Given the description of an element on the screen output the (x, y) to click on. 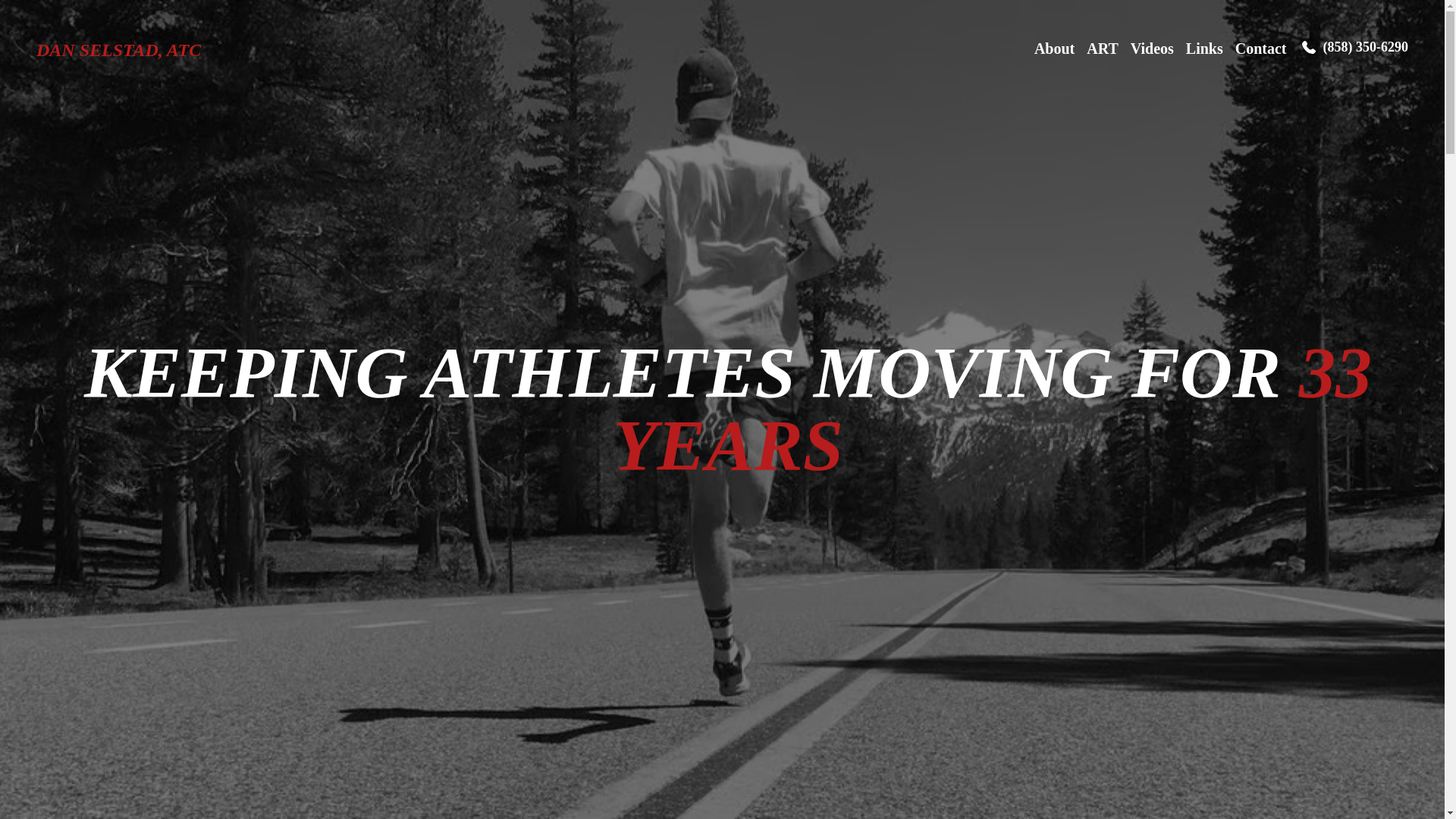
Contact (1260, 49)
About (1053, 49)
DAN SELSTAD, ATC (118, 49)
ART (1102, 49)
Videos (1152, 49)
Links (1204, 49)
